Given the description of an element on the screen output the (x, y) to click on. 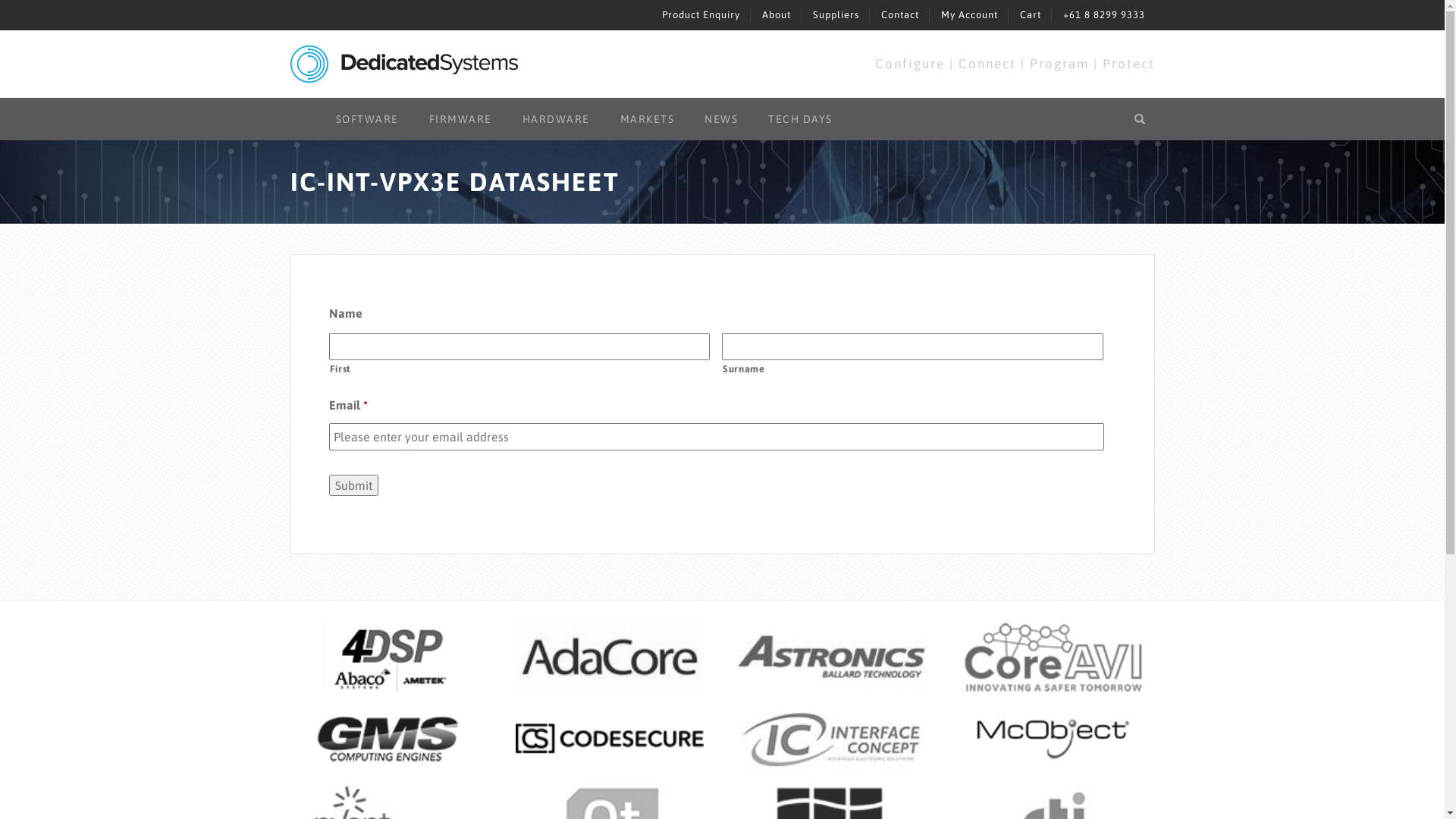
NEWS Element type: text (721, 118)
TECH DAYS Element type: text (800, 118)
Cart Element type: text (1029, 14)
Contact Element type: text (899, 14)
SOFTWARE Element type: text (366, 118)
Product Enquiry Element type: text (699, 14)
About Element type: text (775, 14)
HARDWARE Element type: text (555, 118)
Suppliers Element type: text (835, 14)
FIRMWARE Element type: text (460, 118)
MARKETS Element type: text (647, 118)
Submit Element type: text (353, 484)
<i class="fa fa-home"></i> Element type: hover (304, 111)
+61 8 8299 9333 Element type: text (1103, 14)
My Account Element type: text (968, 14)
